Given the description of an element on the screen output the (x, y) to click on. 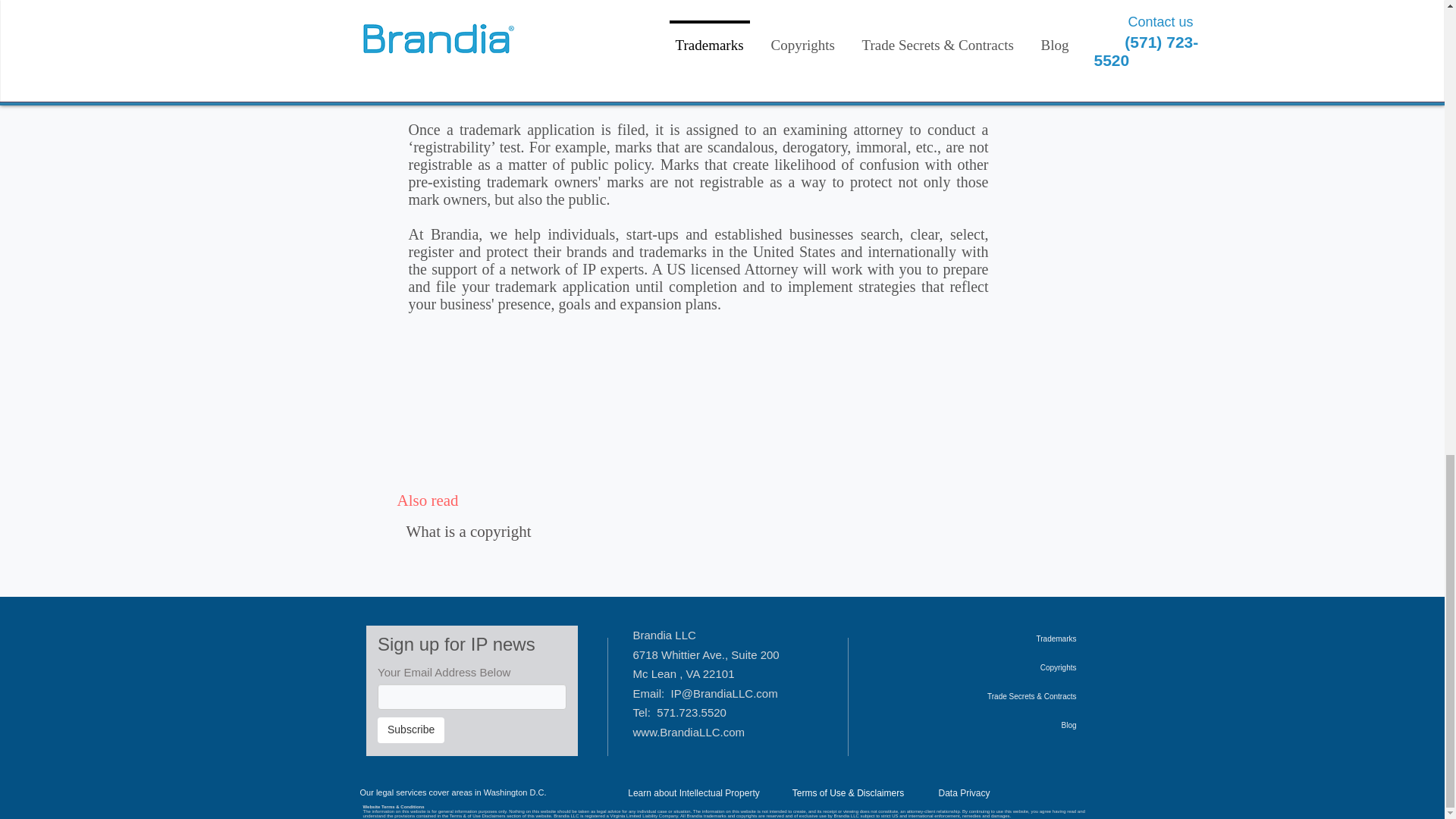
What is a copyright (468, 531)
Data Privacy (963, 792)
Trademarks (997, 638)
Also read (427, 500)
Copyrights (997, 667)
Learn about Intellectual Property (692, 792)
www.BrandiaLLC.com (687, 731)
Contact Collection (470, 690)
Washington D.C. (515, 791)
Blog (997, 725)
